Given the description of an element on the screen output the (x, y) to click on. 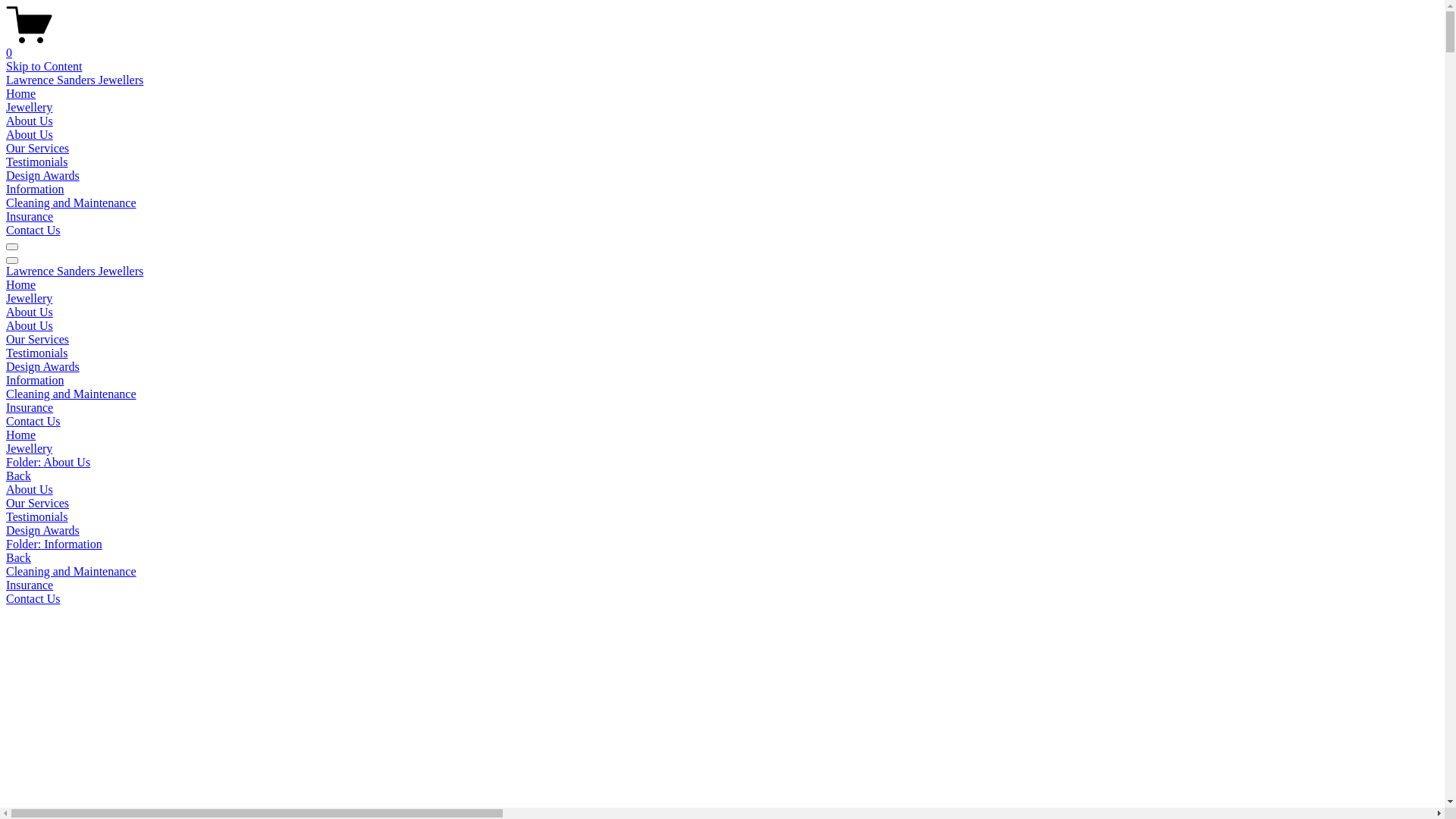
Our Services Element type: text (722, 503)
Information Element type: text (34, 379)
Design Awards Element type: text (42, 366)
About Us Element type: text (29, 325)
Folder: Information Element type: text (722, 544)
About Us Element type: text (29, 134)
Testimonials Element type: text (37, 161)
Our Services Element type: text (37, 338)
Lawrence Sanders Jewellers Element type: text (74, 270)
About Us Element type: text (722, 489)
Insurance Element type: text (29, 216)
Folder: About Us Element type: text (722, 462)
About Us Element type: text (29, 311)
Skip to Content Element type: text (43, 65)
Information Element type: text (34, 188)
Jewellery Element type: text (722, 448)
About Us Element type: text (29, 120)
Insurance Element type: text (722, 585)
Design Awards Element type: text (722, 530)
Jewellery Element type: text (29, 106)
Contact Us Element type: text (33, 420)
Design Awards Element type: text (42, 175)
Contact Us Element type: text (722, 598)
Cleaning and Maintenance Element type: text (71, 202)
Testimonials Element type: text (37, 352)
Contact Us Element type: text (33, 229)
Back Element type: text (18, 557)
Cleaning and Maintenance Element type: text (71, 393)
0 Element type: text (722, 45)
Lawrence Sanders Jewellers Element type: text (74, 79)
Home Element type: text (722, 435)
Back Element type: text (18, 475)
Jewellery Element type: text (29, 297)
Cleaning and Maintenance Element type: text (722, 571)
Testimonials Element type: text (722, 517)
Insurance Element type: text (29, 407)
Home Element type: text (20, 93)
Home Element type: text (20, 284)
Our Services Element type: text (37, 147)
